Given the description of an element on the screen output the (x, y) to click on. 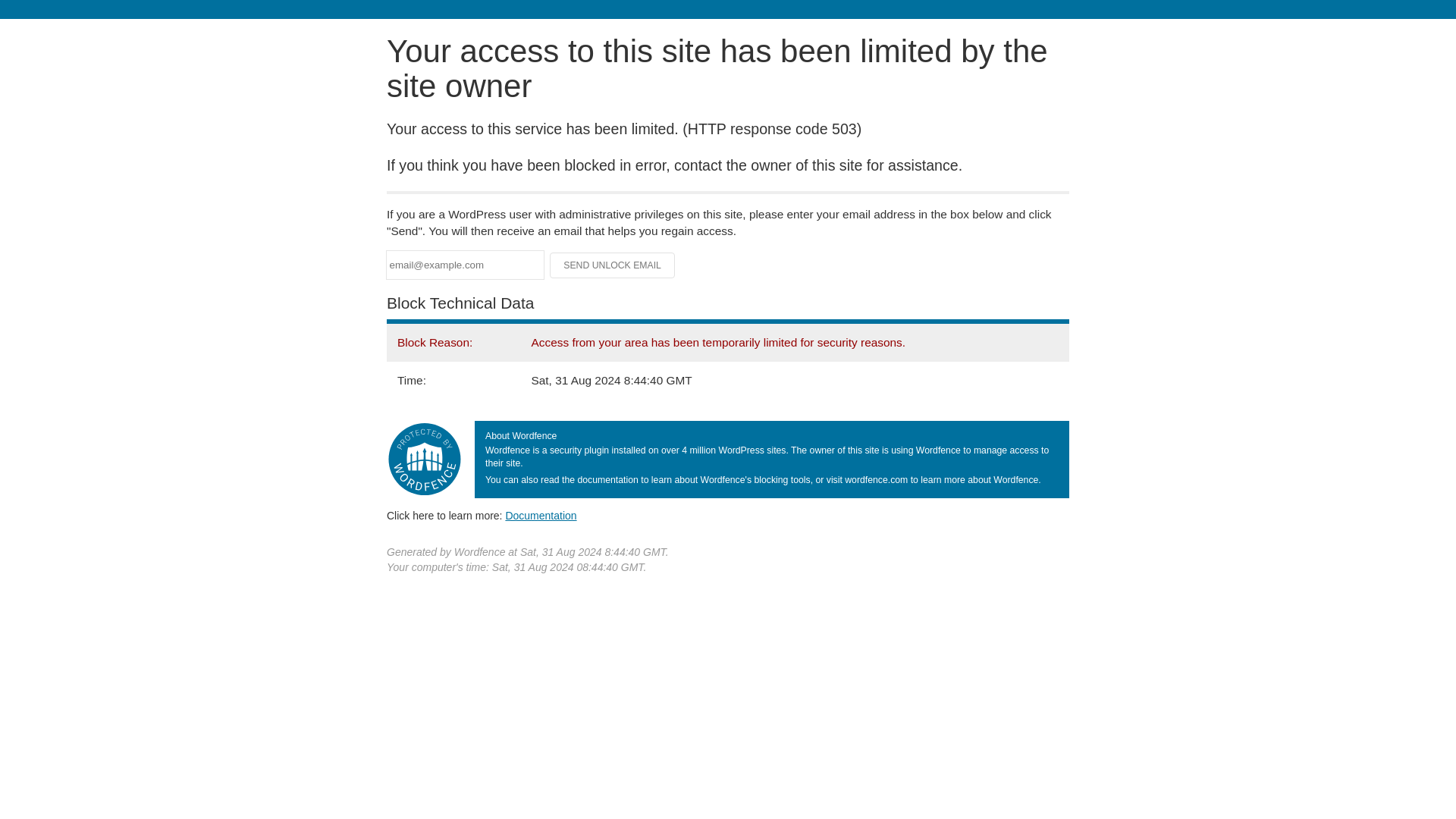
Documentation (540, 515)
Send Unlock Email (612, 265)
Send Unlock Email (612, 265)
